Given the description of an element on the screen output the (x, y) to click on. 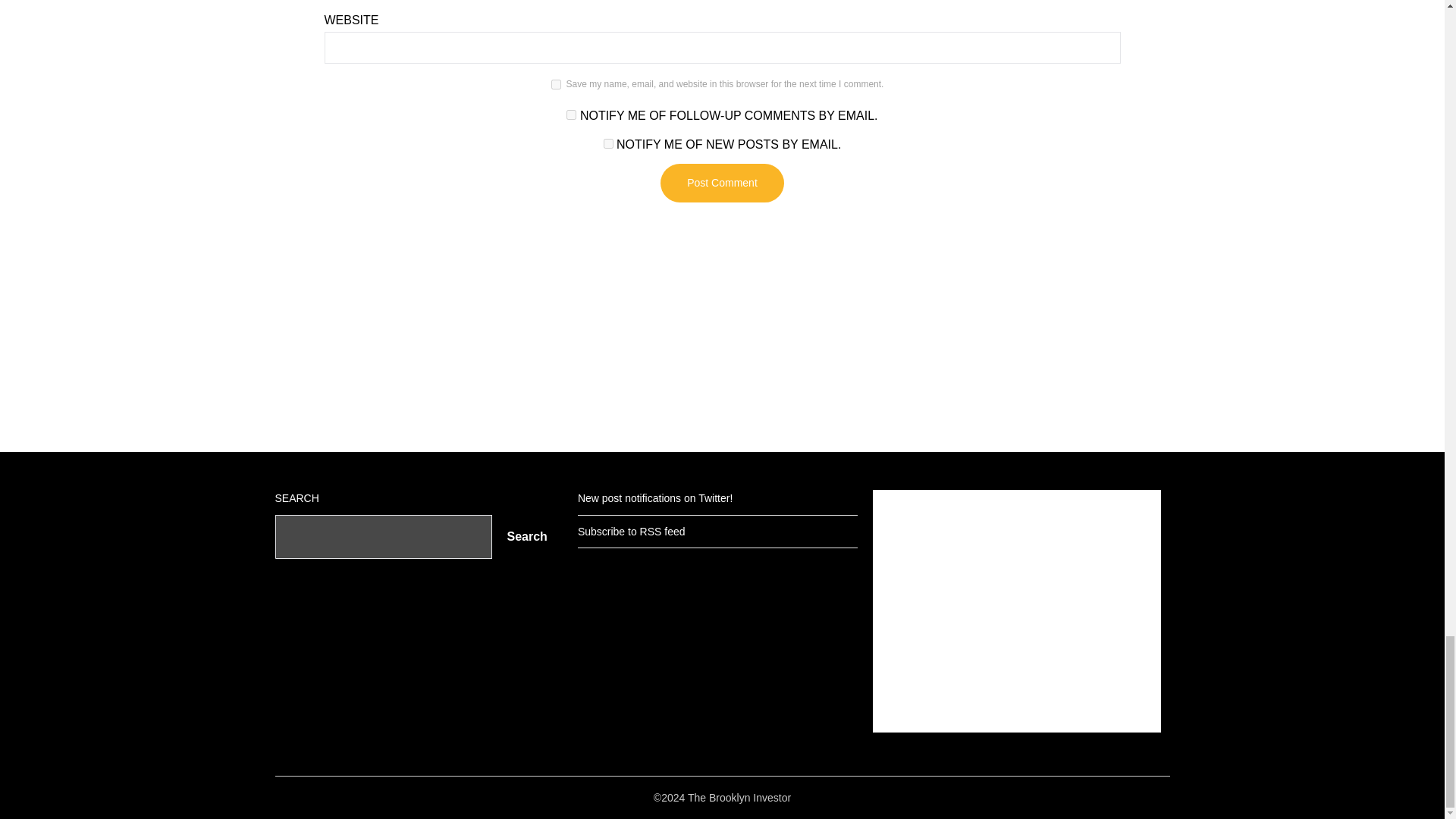
Post Comment (722, 182)
subscribe (571, 114)
Post Comment (722, 182)
Search (527, 536)
subscribe (608, 143)
New post notifications on Twitter! (655, 498)
yes (555, 84)
Subscribe to RSS feed (631, 531)
